Given the description of an element on the screen output the (x, y) to click on. 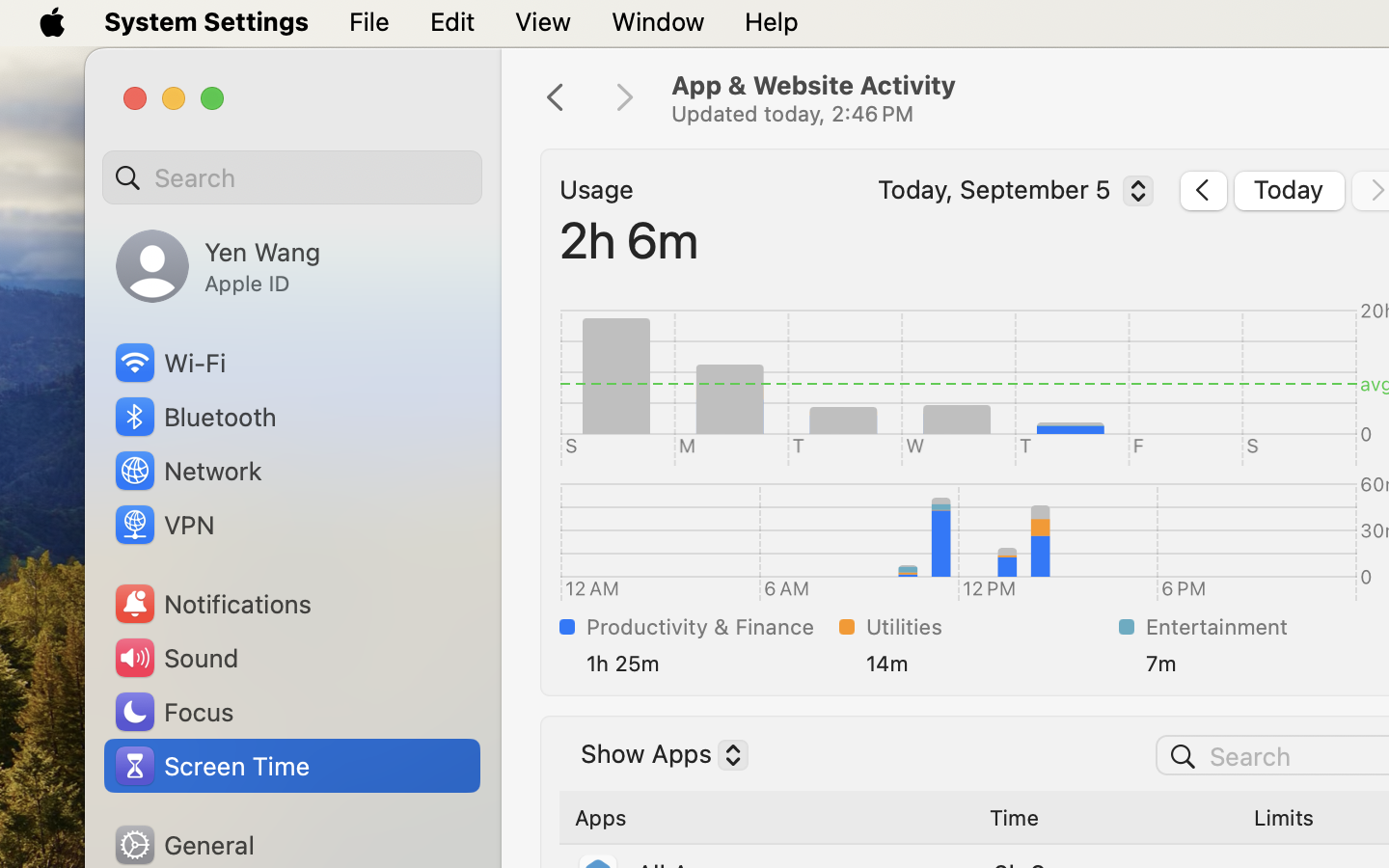
Usage Element type: AXStaticText (596, 189)
Focus Element type: AXStaticText (172, 711)
14m Element type: AXStaticText (988, 663)
